Given the description of an element on the screen output the (x, y) to click on. 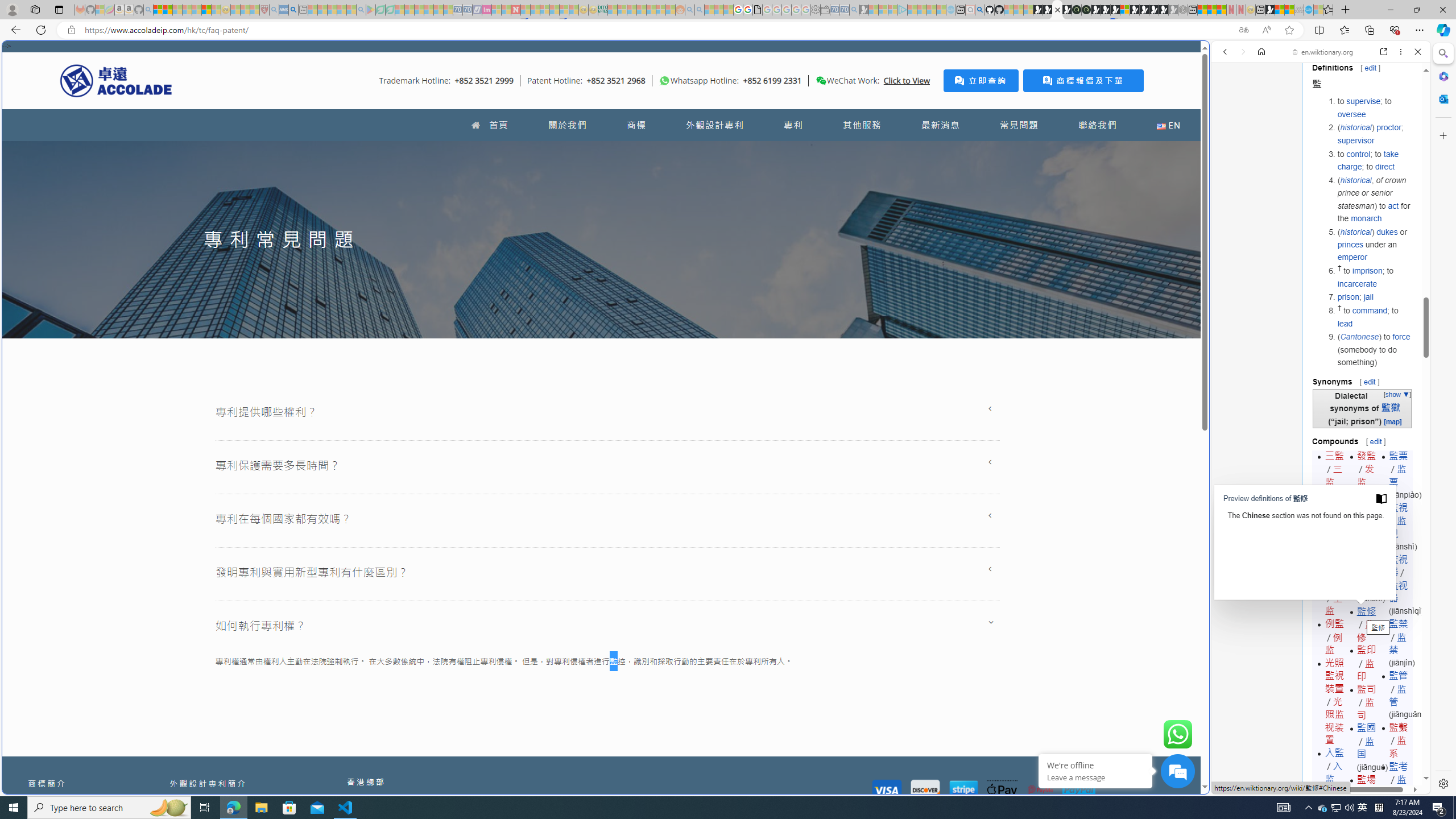
EN (1168, 124)
prison; jail (1374, 296)
utah sues federal government - Search (292, 9)
Jobs - lastminute.com Investor Portal - Sleeping (486, 9)
